Given the description of an element on the screen output the (x, y) to click on. 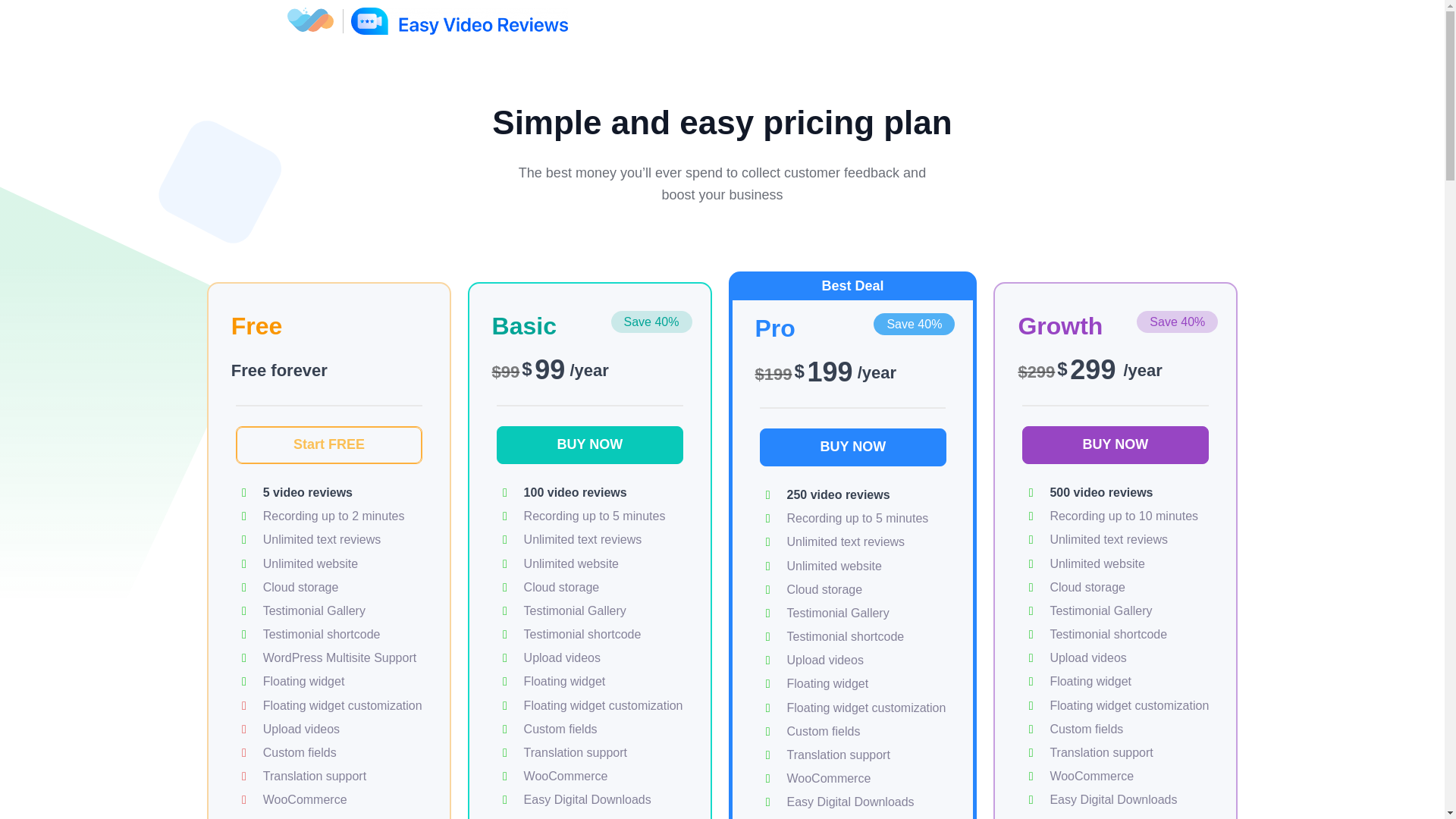
BUY NOW (1115, 444)
Start FREE (328, 444)
BUY NOW (589, 444)
BUY NOW (853, 447)
